Given the description of an element on the screen output the (x, y) to click on. 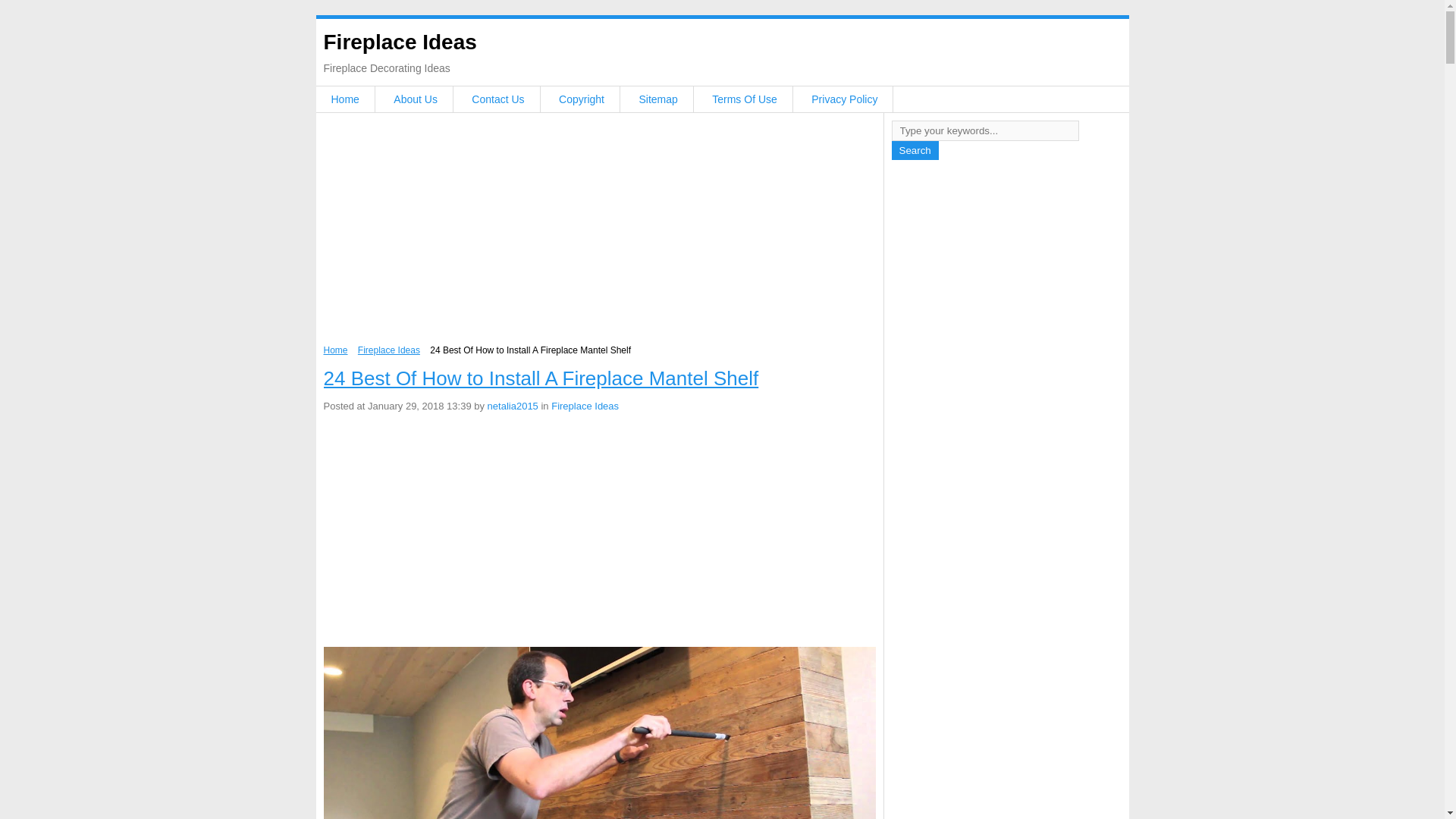
About Us (415, 99)
Copyright (581, 99)
Home (335, 349)
Fireplace Ideas (399, 42)
Contact Us (497, 99)
24 Best Of How to Install A Fireplace Mantel Shelf (540, 377)
Fireplace Ideas (389, 349)
Fireplace Ideas (584, 405)
netalia2015 (512, 405)
Privacy Policy (843, 99)
Advertisement (599, 232)
Sitemap (658, 99)
Search (915, 149)
Advertisement (599, 532)
Terms Of Use (744, 99)
